Given the description of an element on the screen output the (x, y) to click on. 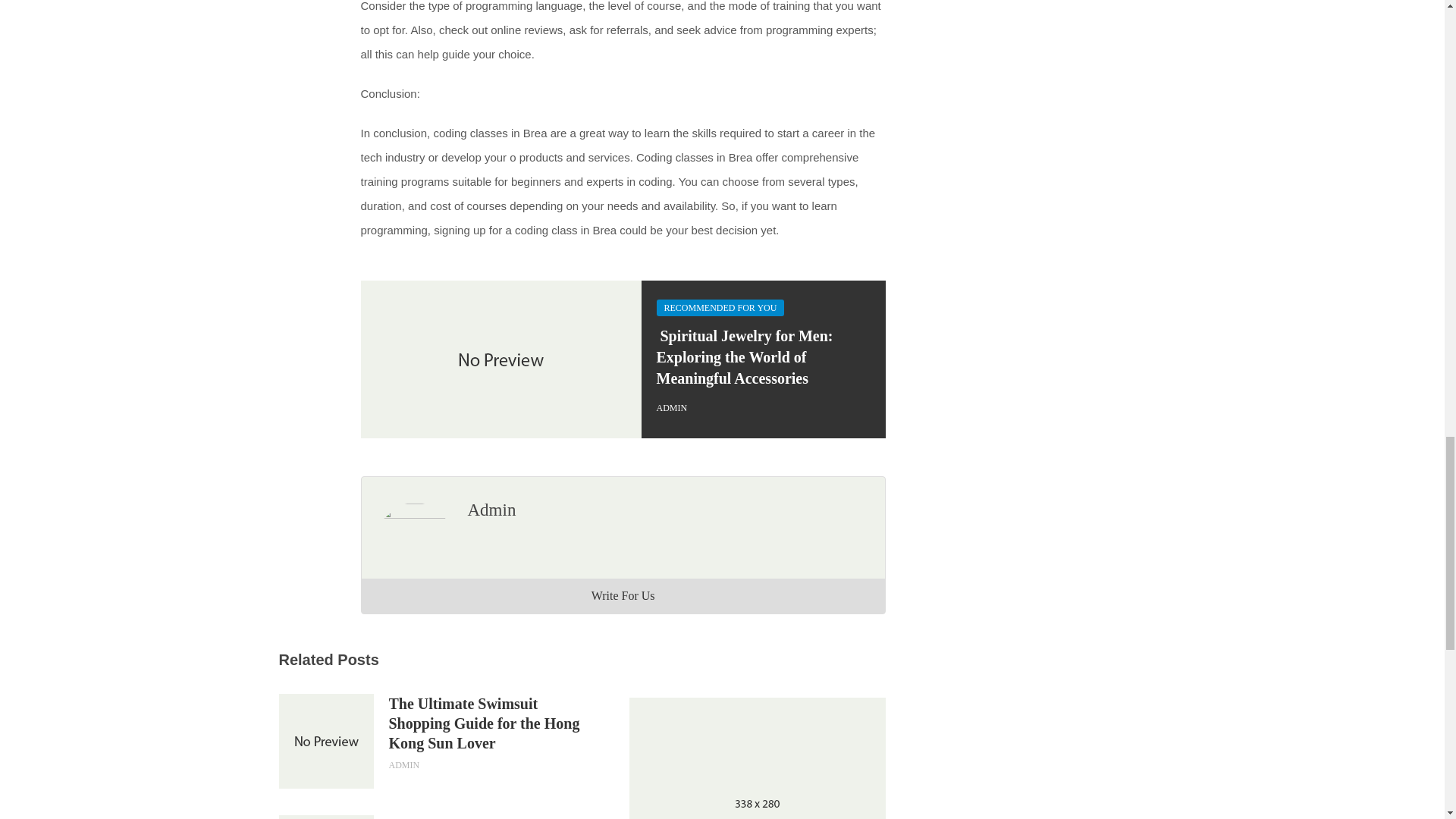
ADMIN (671, 407)
